Given the description of an element on the screen output the (x, y) to click on. 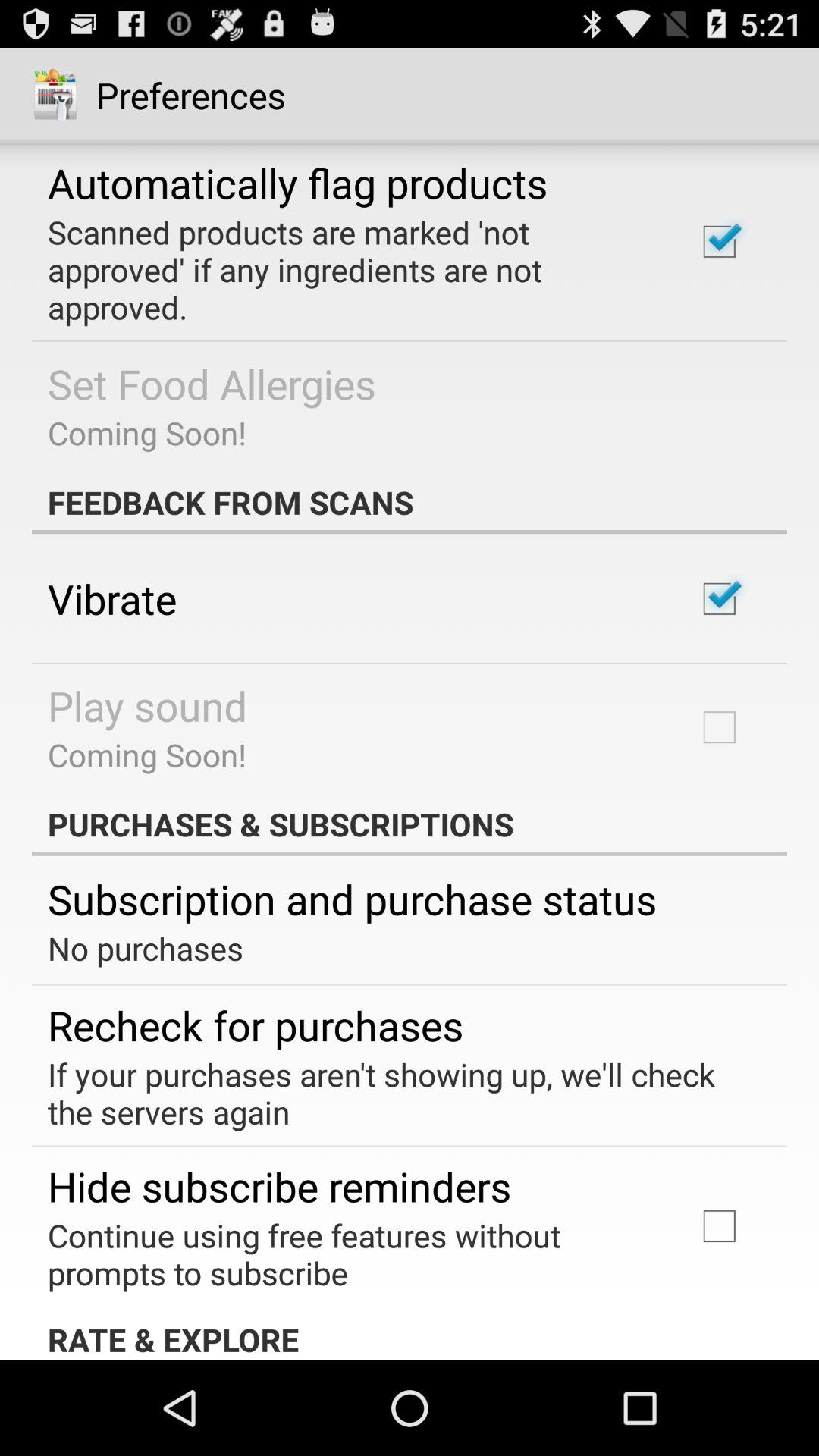
scroll until feedback from scans item (409, 502)
